Given the description of an element on the screen output the (x, y) to click on. 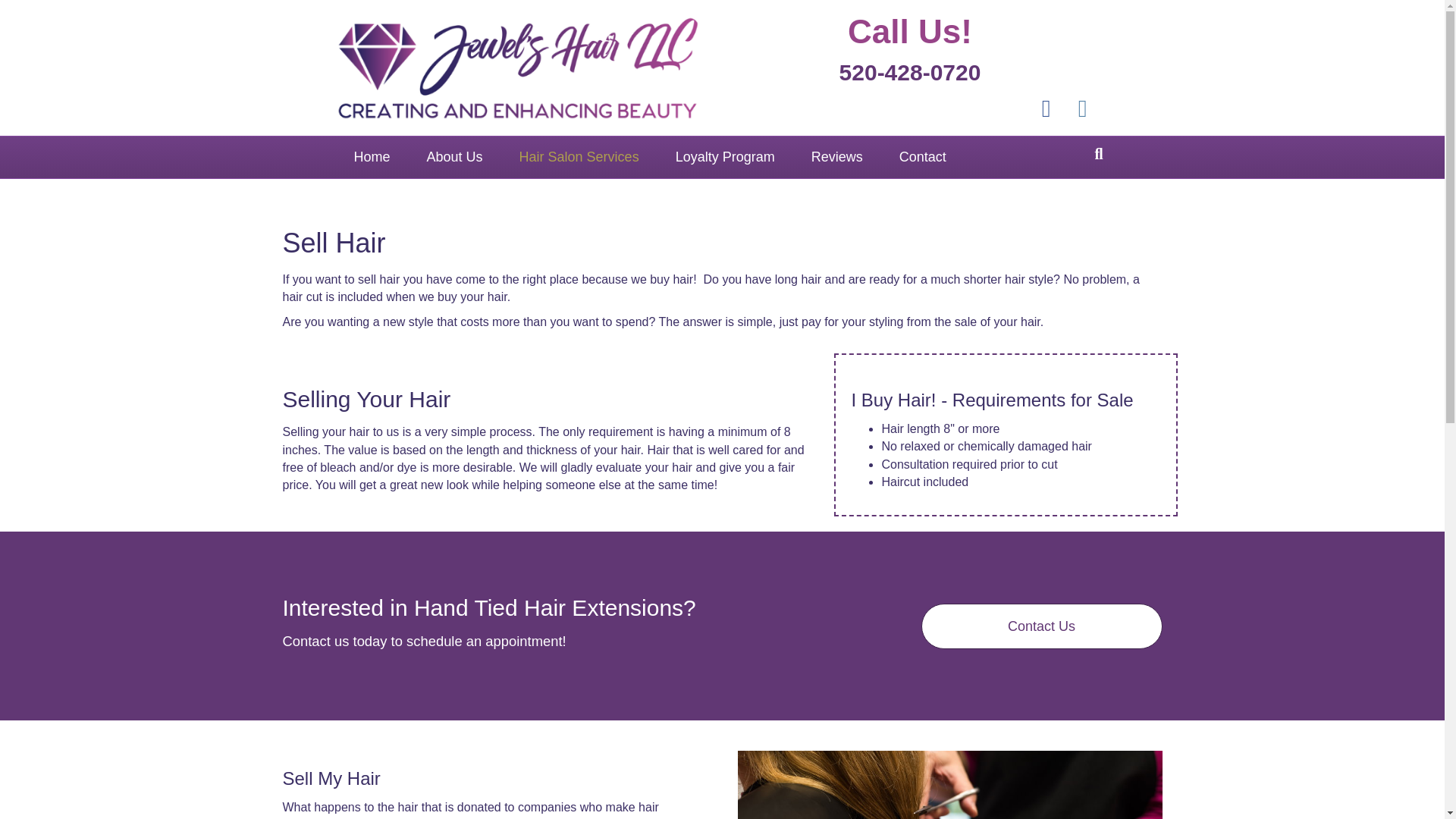
Instagram (1082, 108)
Home (370, 157)
About Us (454, 157)
Contact (921, 157)
520-428-0720 (910, 72)
Contact Us (1040, 626)
Facebook (1045, 108)
Sell Your Hair Peoria, AZ (948, 785)
Loyalty Program (725, 157)
Hair Salon Services (579, 157)
Reviews (836, 157)
